Given the description of an element on the screen output the (x, y) to click on. 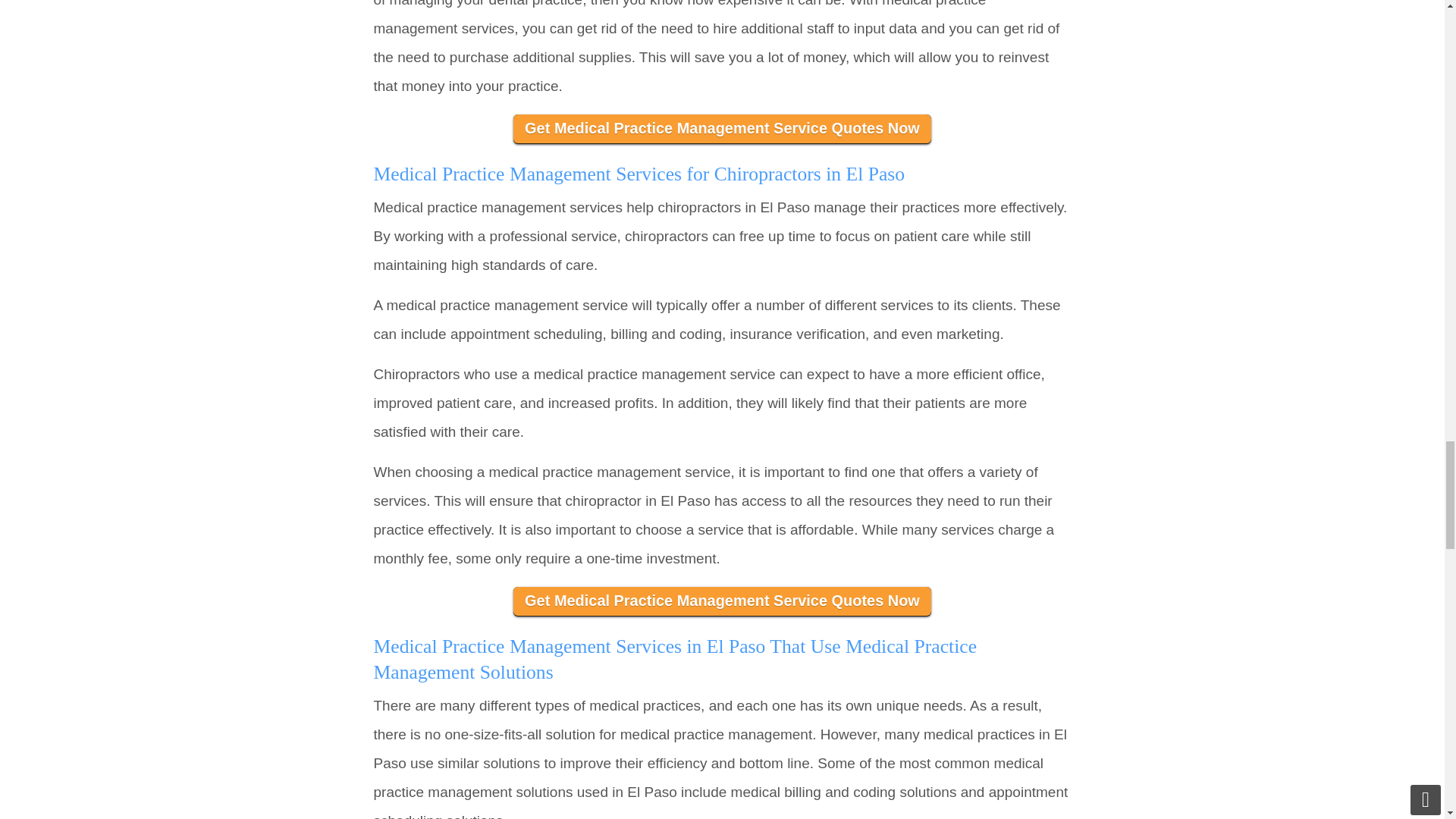
Get Medical Practice Management Service Quotes Now (722, 601)
Get Free Medical Practice Management Service Quotes (722, 129)
Get Medical Practice Management Service Quotes Now (722, 129)
Get Free Medical Practice Management Service Quotes (722, 601)
